Given the description of an element on the screen output the (x, y) to click on. 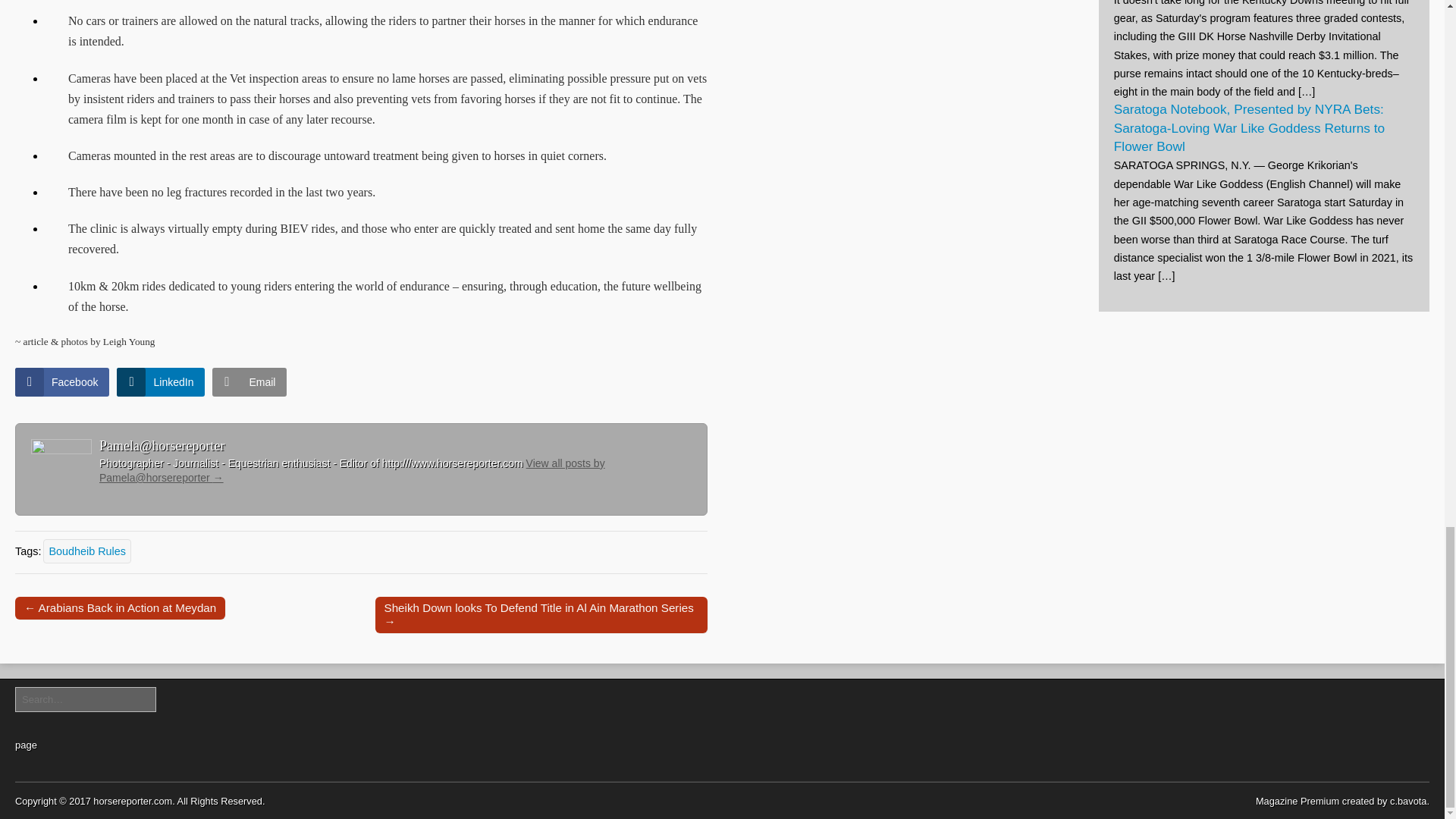
Email (249, 380)
Facebook (61, 380)
LinkedIn (160, 380)
Boudheib Rules (87, 550)
